Given the description of an element on the screen output the (x, y) to click on. 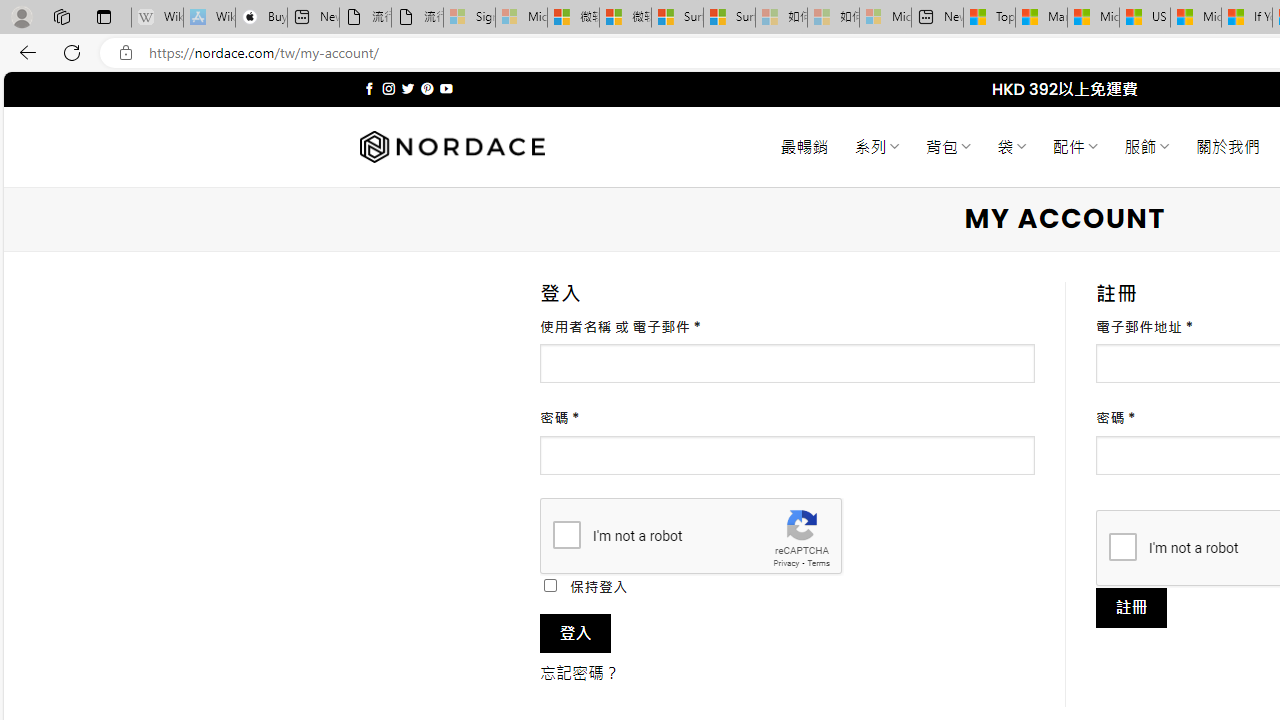
Microsoft Services Agreement - Sleeping (520, 17)
US Heat Deaths Soared To Record High Last Year (1144, 17)
Microsoft account | Account Checkup - Sleeping (885, 17)
Buy iPad - Apple (260, 17)
Follow on Twitter (406, 88)
